Given the description of an element on the screen output the (x, y) to click on. 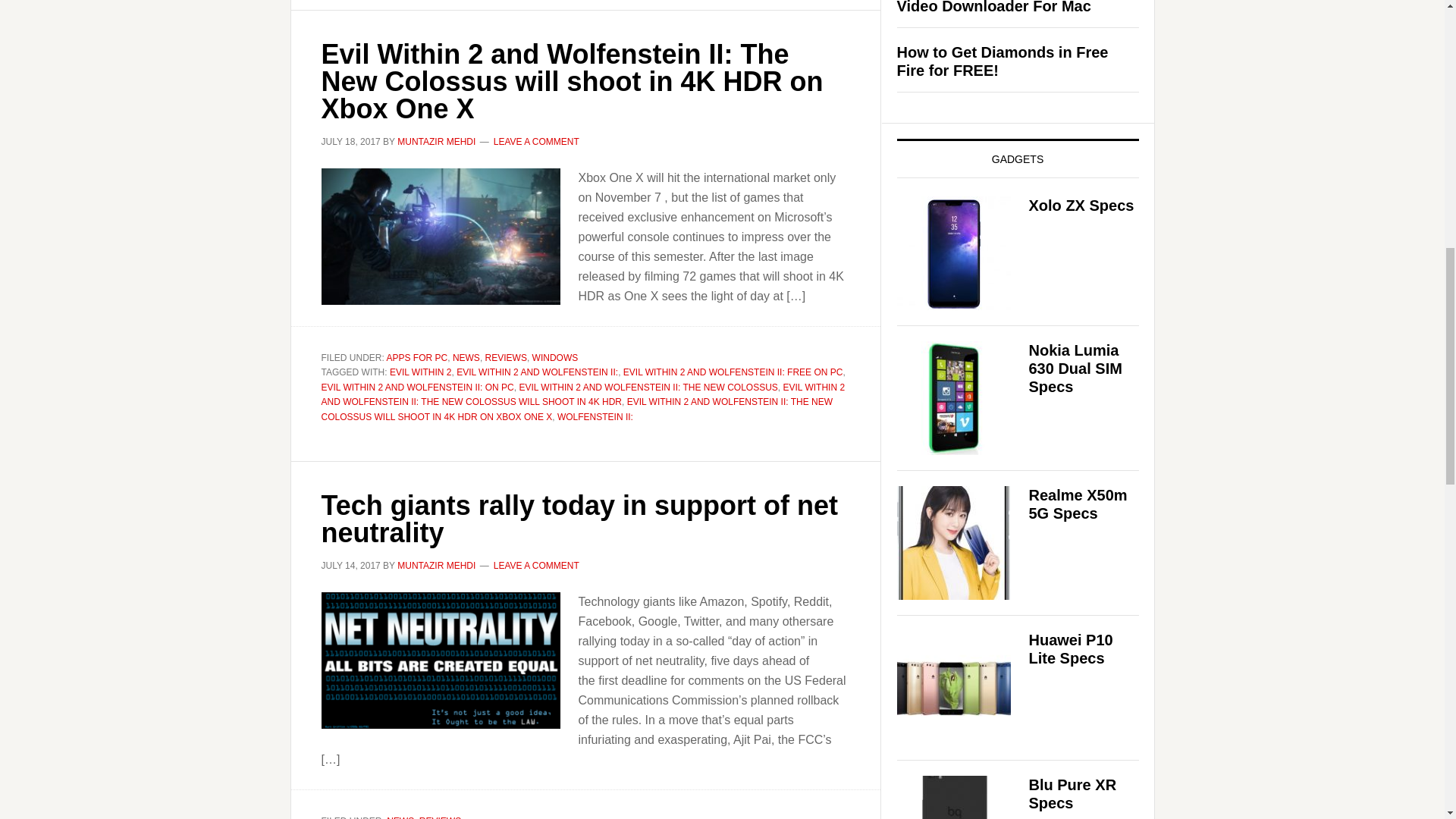
APPS FOR PC (417, 357)
LEAVE A COMMENT (536, 141)
NEWS (466, 357)
REVIEWS (505, 357)
MUNTAZIR MEHDI (436, 141)
